Given the description of an element on the screen output the (x, y) to click on. 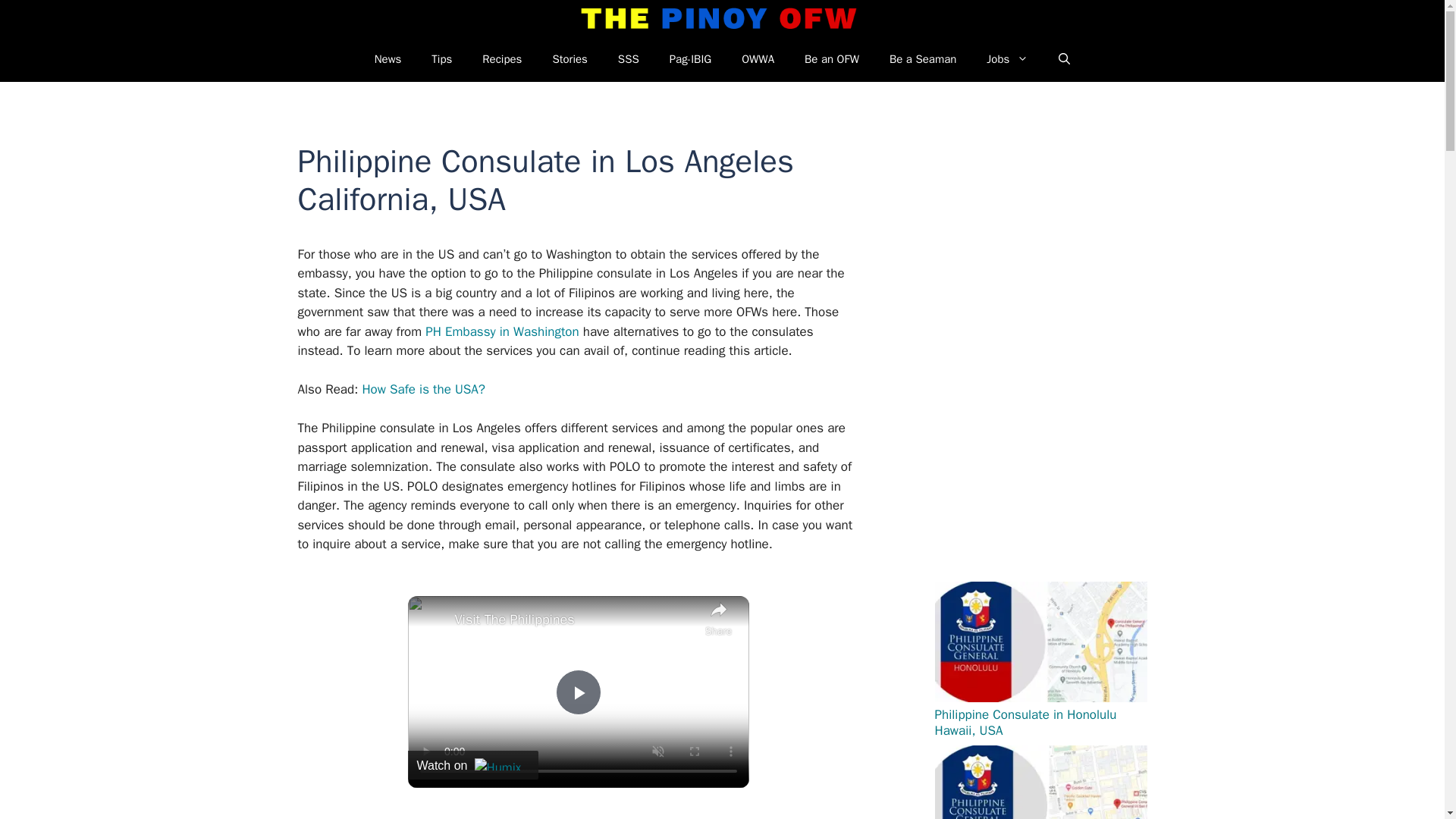
Stories (569, 58)
OWWA (757, 58)
Play Video (576, 691)
News (387, 58)
Tips (441, 58)
Recipes (502, 58)
SSS (627, 58)
Be a Seaman (923, 58)
Jobs (1007, 58)
The Pinoy OFW (718, 18)
